Given the description of an element on the screen output the (x, y) to click on. 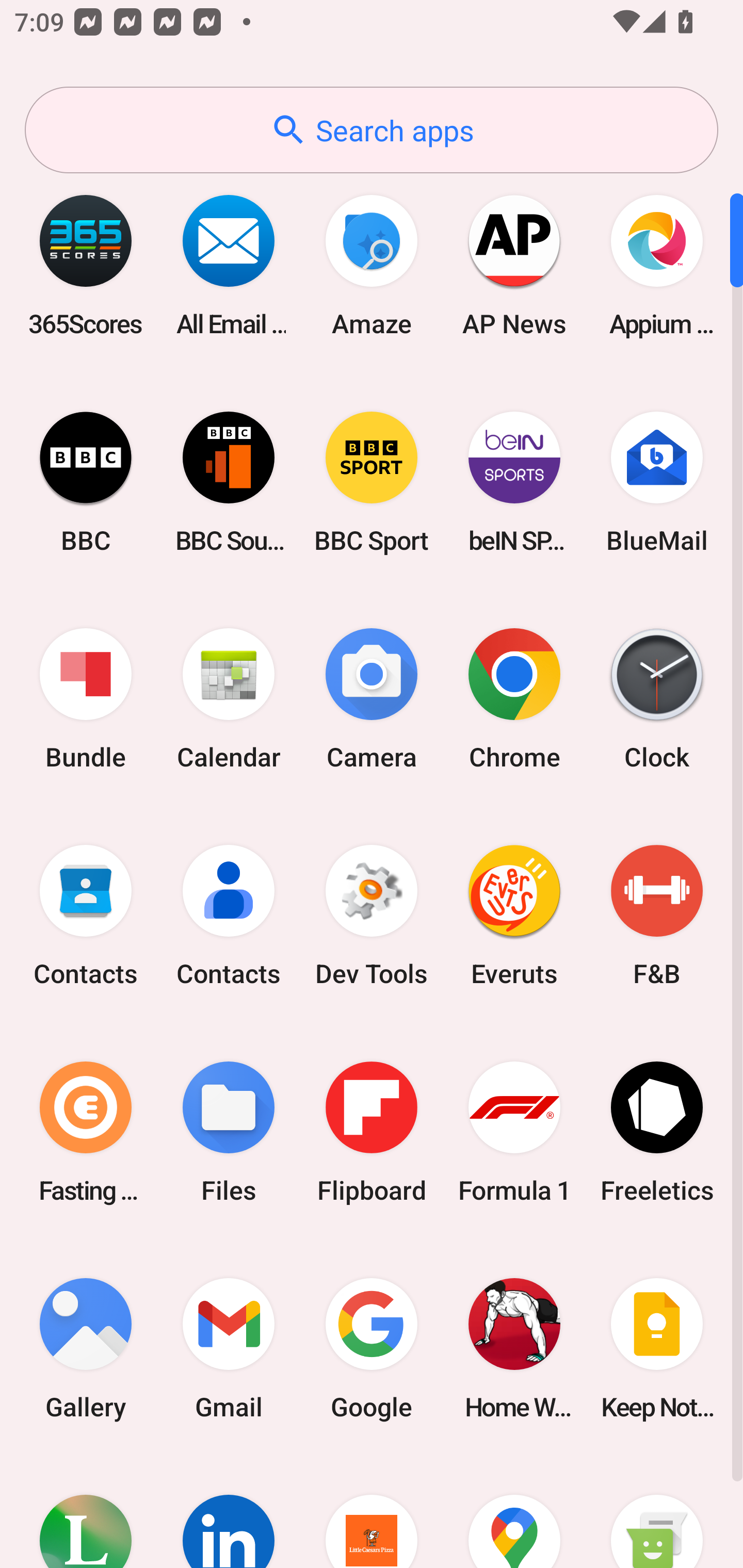
  Search apps (371, 130)
365Scores (85, 264)
All Email Connect (228, 264)
Amaze (371, 264)
AP News (514, 264)
Appium Settings (656, 264)
BBC (85, 482)
BBC Sounds (228, 482)
BBC Sport (371, 482)
beIN SPORTS (514, 482)
BlueMail (656, 482)
Bundle (85, 699)
Calendar (228, 699)
Camera (371, 699)
Chrome (514, 699)
Clock (656, 699)
Contacts (85, 915)
Contacts (228, 915)
Dev Tools (371, 915)
Everuts (514, 915)
F&B (656, 915)
Fasting Coach (85, 1131)
Files (228, 1131)
Flipboard (371, 1131)
Formula 1 (514, 1131)
Freeletics (656, 1131)
Gallery (85, 1348)
Gmail (228, 1348)
Google (371, 1348)
Home Workout (514, 1348)
Keep Notes (656, 1348)
Lifesum (85, 1512)
LinkedIn (228, 1512)
Little Caesars Pizza (371, 1512)
Maps (514, 1512)
Messaging (656, 1512)
